Given the description of an element on the screen output the (x, y) to click on. 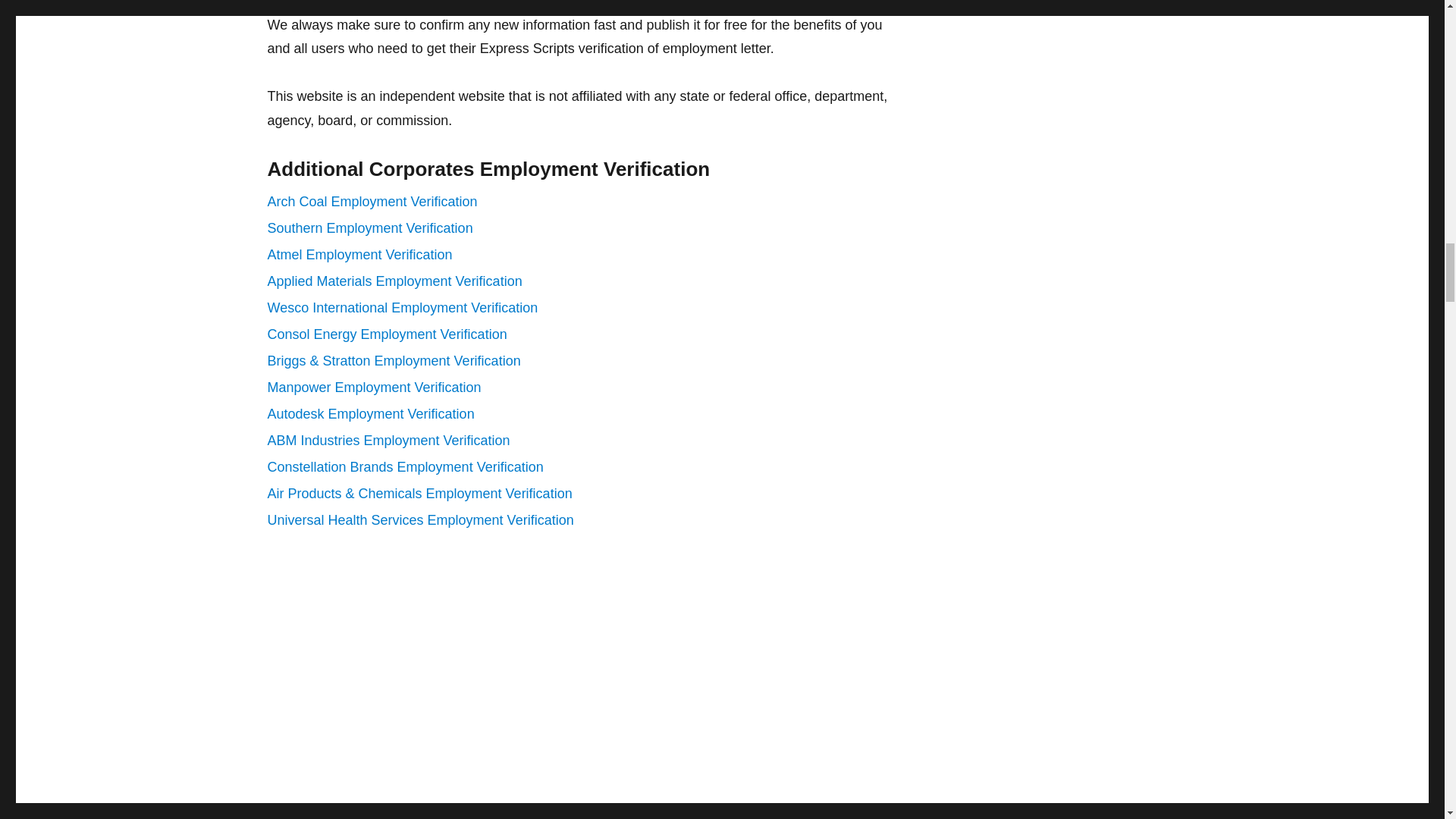
Southern Employment Verification (368, 227)
ABM Industries Employment Verification (387, 440)
Universal Health Services Employment Verification (419, 519)
Consol Energy Employment Verification (386, 334)
Atmel Employment Verification (358, 254)
Constellation Brands Employment Verification (404, 467)
Arch Coal Employment Verification (371, 201)
Manpower Employment Verification (373, 387)
Wesco International Employment Verification (401, 307)
Applied Materials Employment Verification (393, 281)
